Given the description of an element on the screen output the (x, y) to click on. 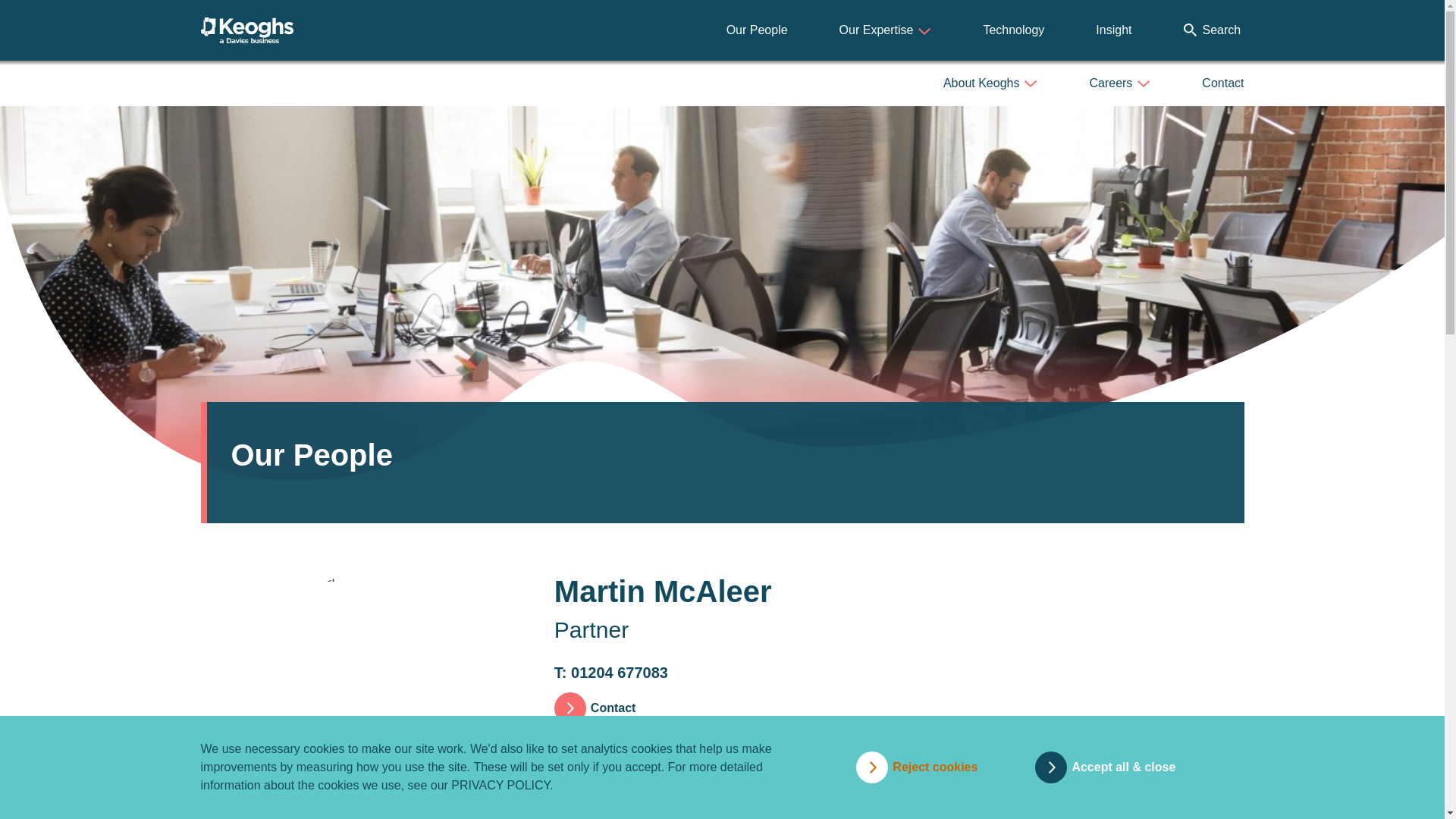
Our People (756, 30)
Technology (1012, 30)
Our Expertise (885, 30)
